Given the description of an element on the screen output the (x, y) to click on. 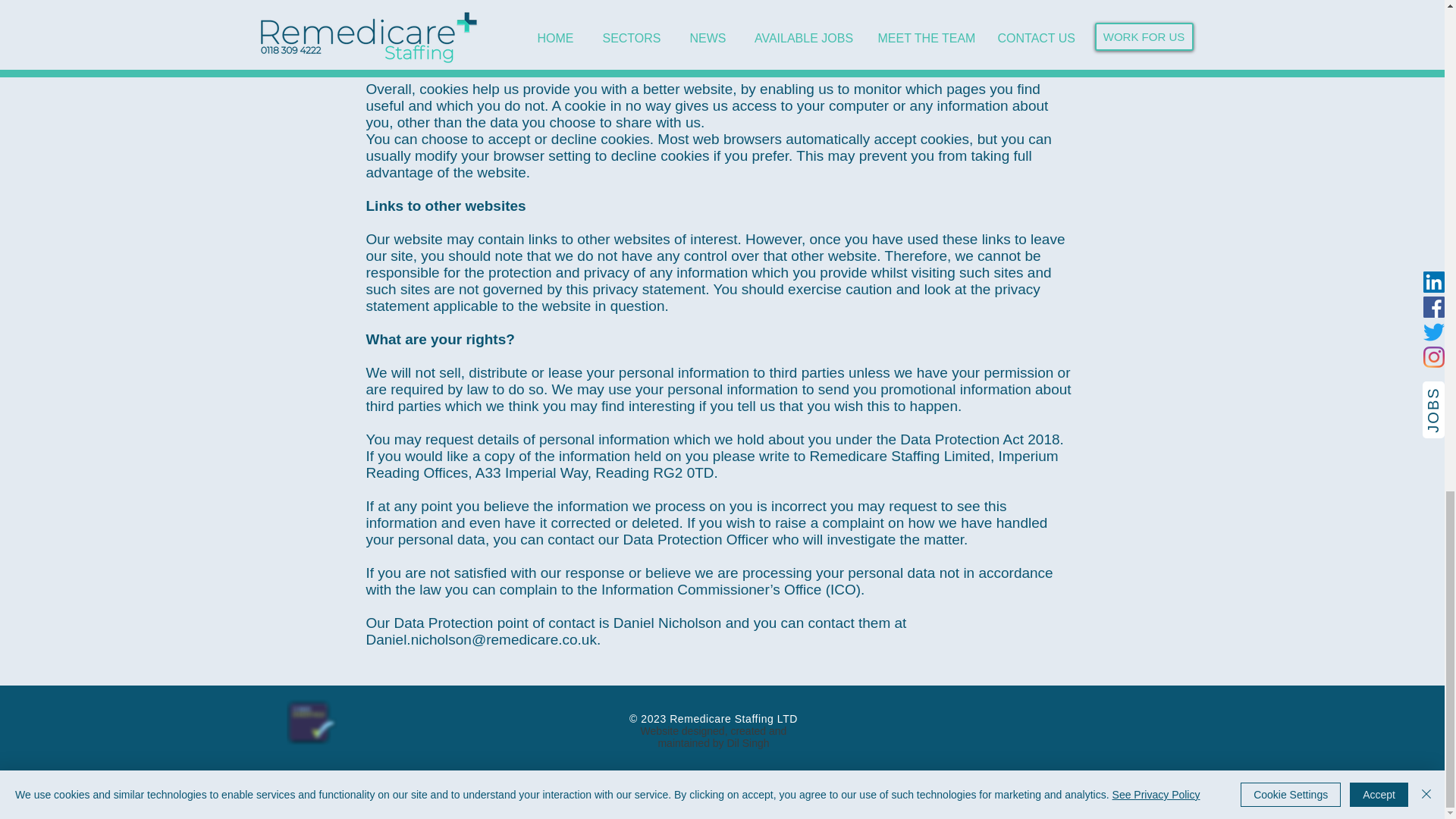
MANAGE MY DATA (831, 786)
LEGAL (462, 786)
COMPLAINTS FORM (978, 786)
PRIVACY (719, 792)
TERMS AND CONDITIONS (587, 786)
